Given the description of an element on the screen output the (x, y) to click on. 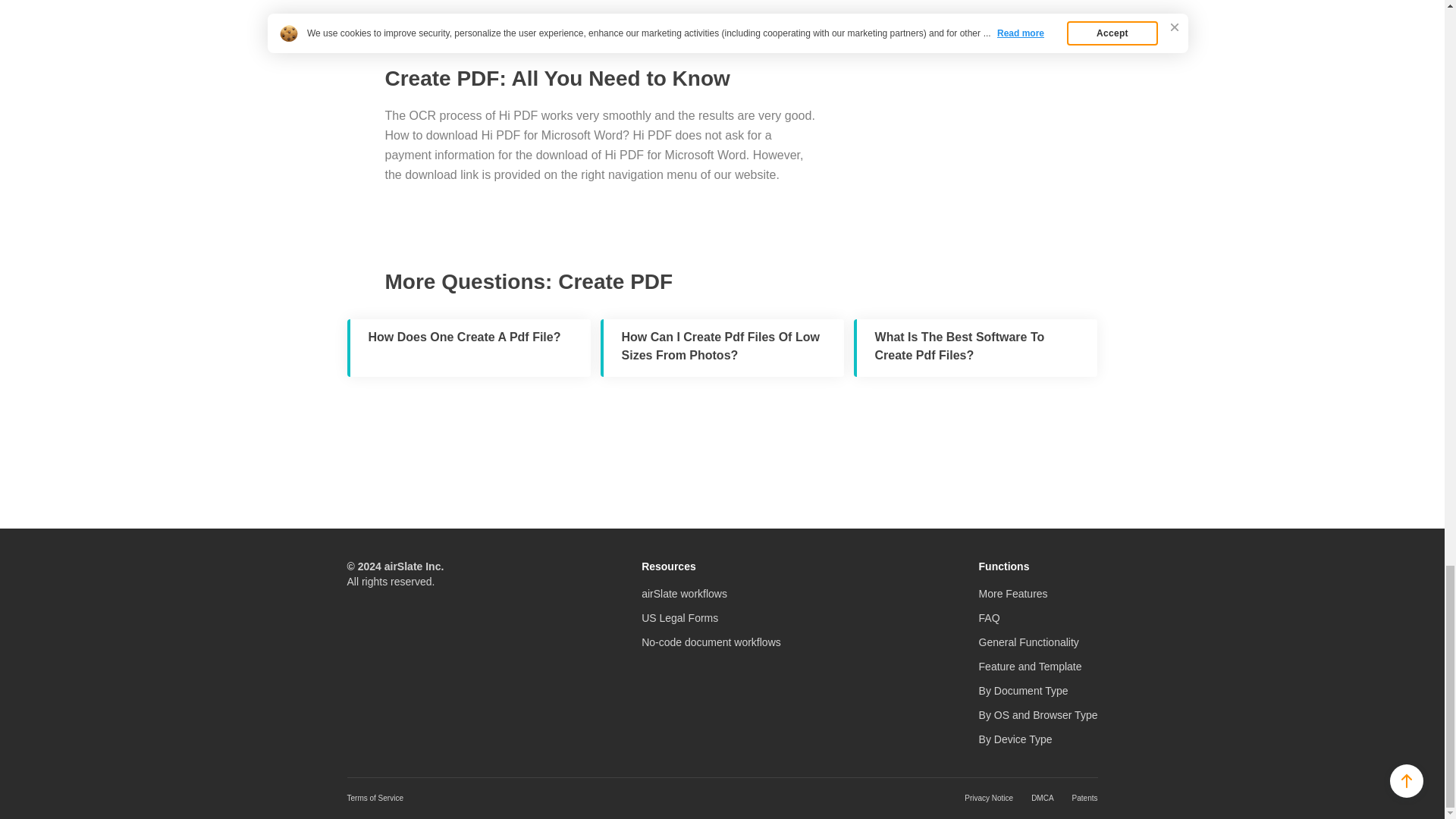
How Does One Create A Pdf File? (469, 347)
Feature and Template (1029, 666)
General Functionality (1028, 642)
How Can I Create Pdf Files Of Low Sizes From Photos? (721, 347)
Patents (1084, 798)
DMCA (1041, 798)
More Features (1013, 593)
What Is The Best Software To Create Pdf Files? (975, 347)
US Legal Forms (679, 617)
airSlate workflows (684, 593)
By Device Type (1015, 739)
By Document Type (1023, 690)
FAQ (989, 617)
No-code document workflows (711, 642)
Terms of Service (375, 797)
